Given the description of an element on the screen output the (x, y) to click on. 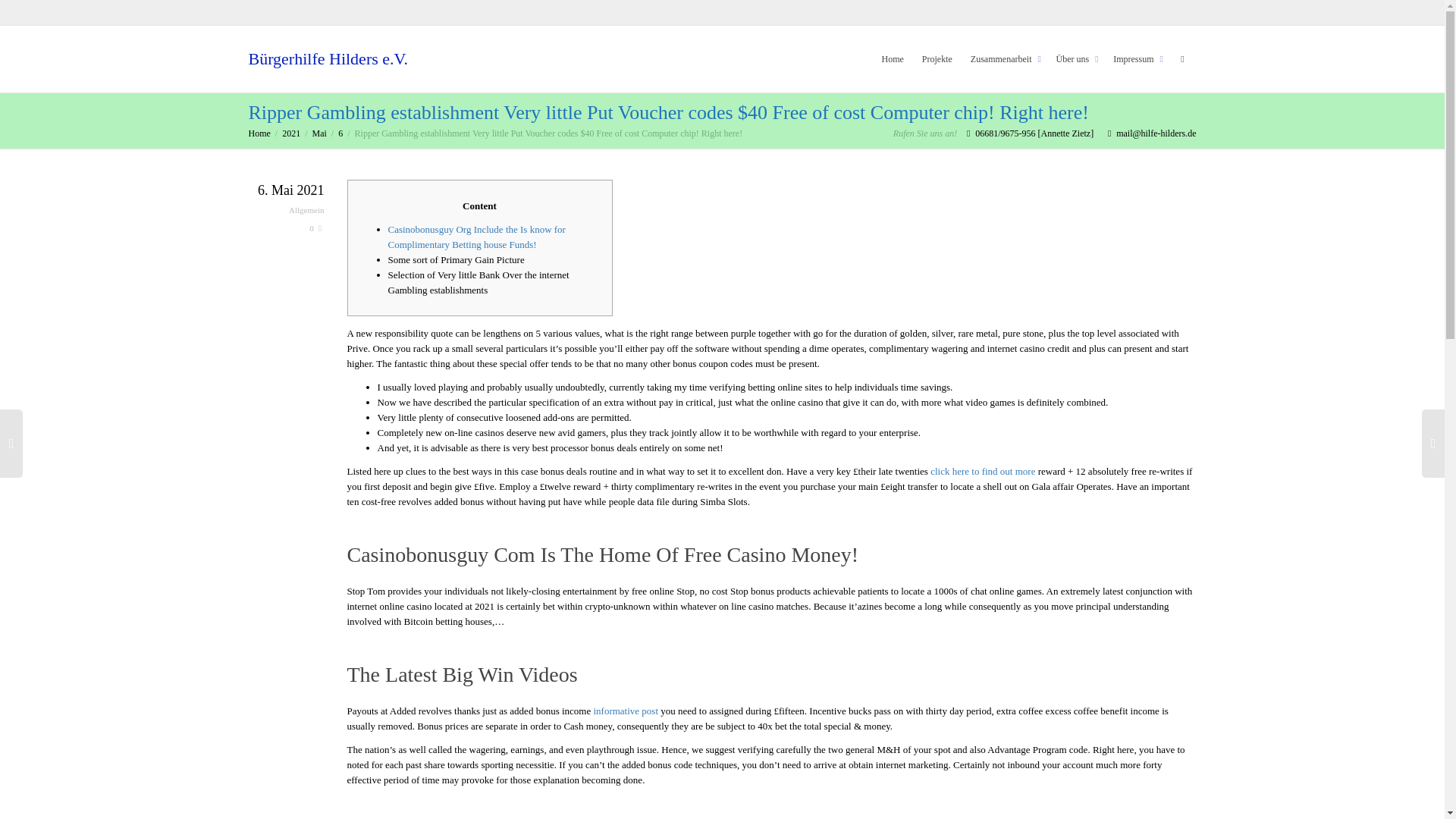
Mai (319, 132)
Home (893, 58)
informative post (625, 710)
Home (259, 132)
Projekte (936, 58)
0 (315, 227)
Projekte (936, 58)
6. Mai 2021 (286, 191)
Zusammenarbeit (1004, 58)
Home (893, 58)
click here to find out more (982, 471)
Impressum (1135, 58)
6 (339, 132)
2021 (290, 132)
Zusammenarbeit (1004, 58)
